Given the description of an element on the screen output the (x, y) to click on. 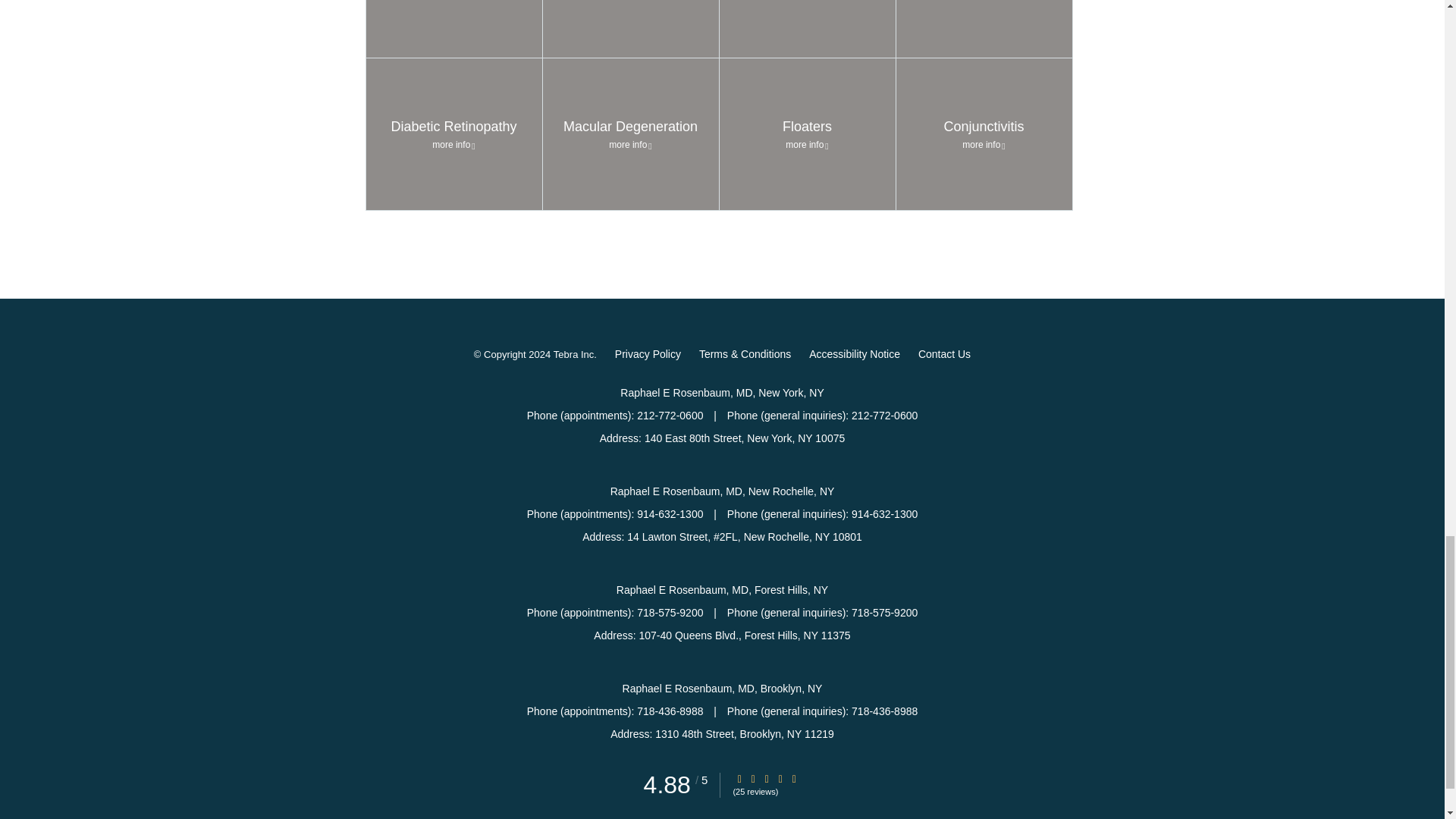
Star Rating (794, 778)
Star Rating (738, 778)
Star Rating (766, 778)
Star Rating (780, 778)
Star Rating (753, 778)
